Given the description of an element on the screen output the (x, y) to click on. 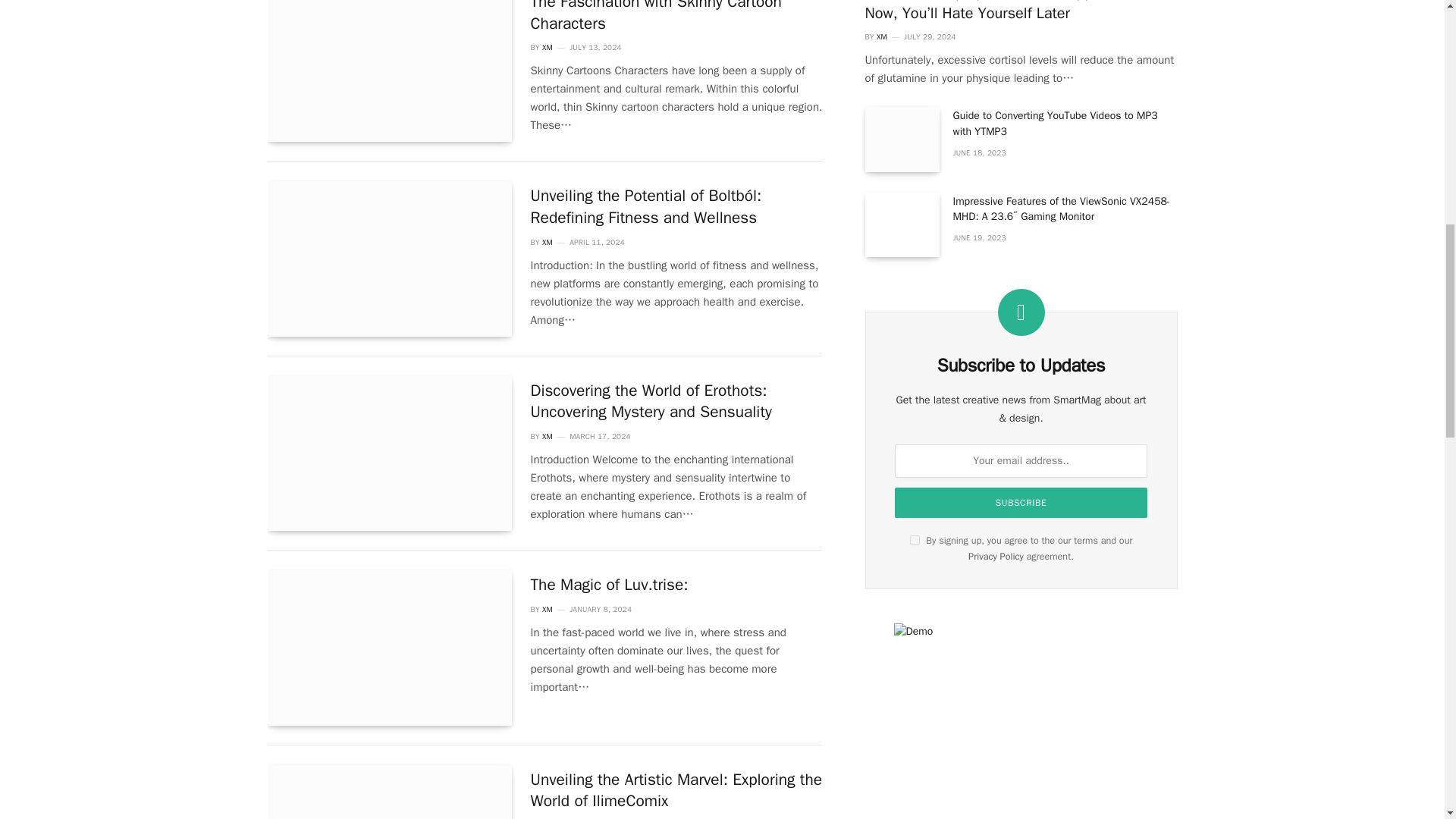
on (915, 540)
Posts by XM (547, 47)
Posts by XM (547, 436)
Posts by XM (547, 242)
Subscribe (1021, 502)
The Fascination with Skinny Cartoon Characters (388, 70)
